Given the description of an element on the screen output the (x, y) to click on. 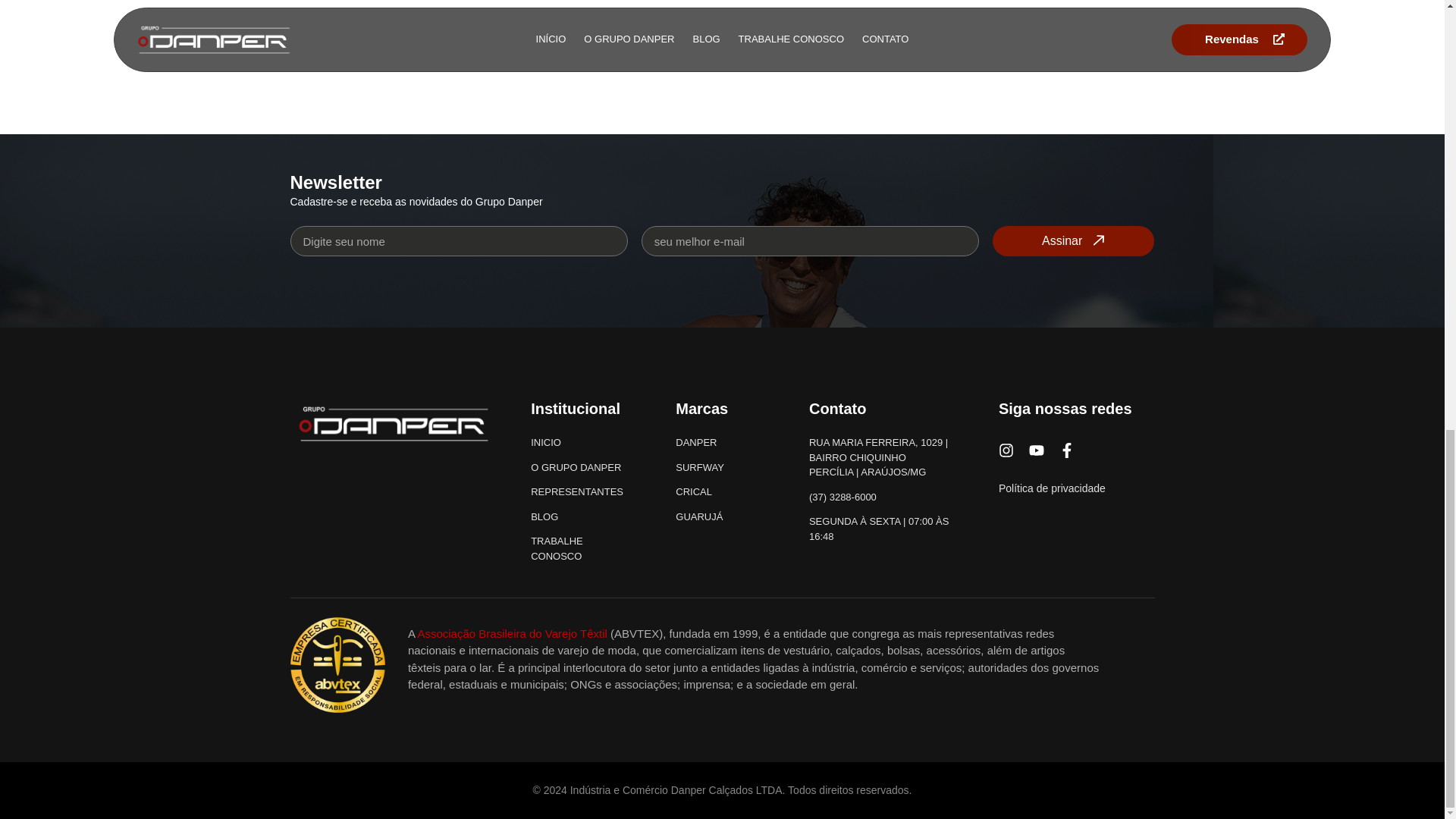
Assinar (1073, 241)
INICIO (582, 442)
CRICAL (721, 491)
SURFWAY (721, 467)
REPRESENTANTES (582, 491)
TRABALHE CONOSCO (582, 548)
O GRUPO DANPER (582, 467)
DANPER (721, 442)
BLOG (582, 516)
